Given the description of an element on the screen output the (x, y) to click on. 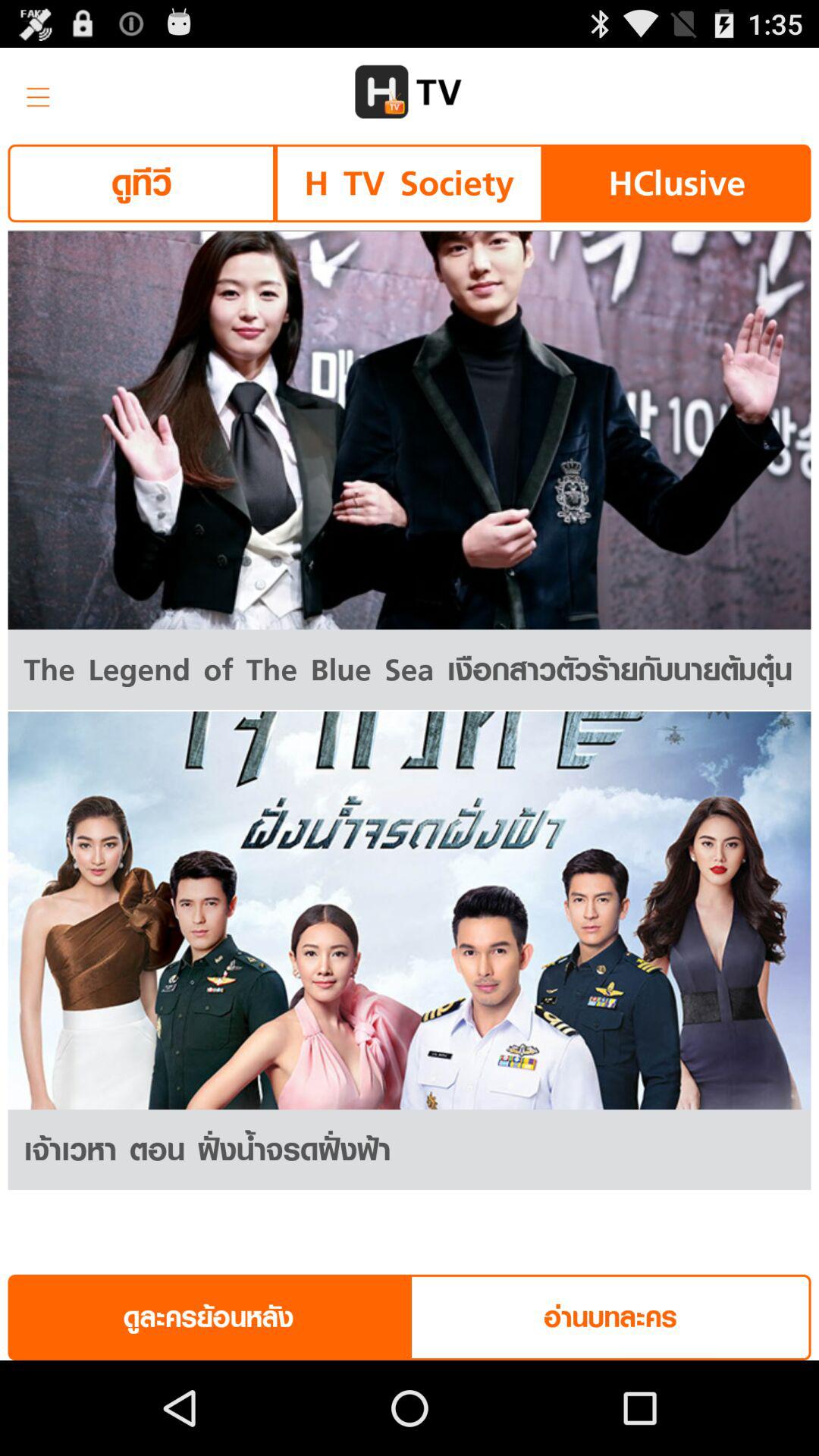
click button next to h tv society button (677, 183)
